Given the description of an element on the screen output the (x, y) to click on. 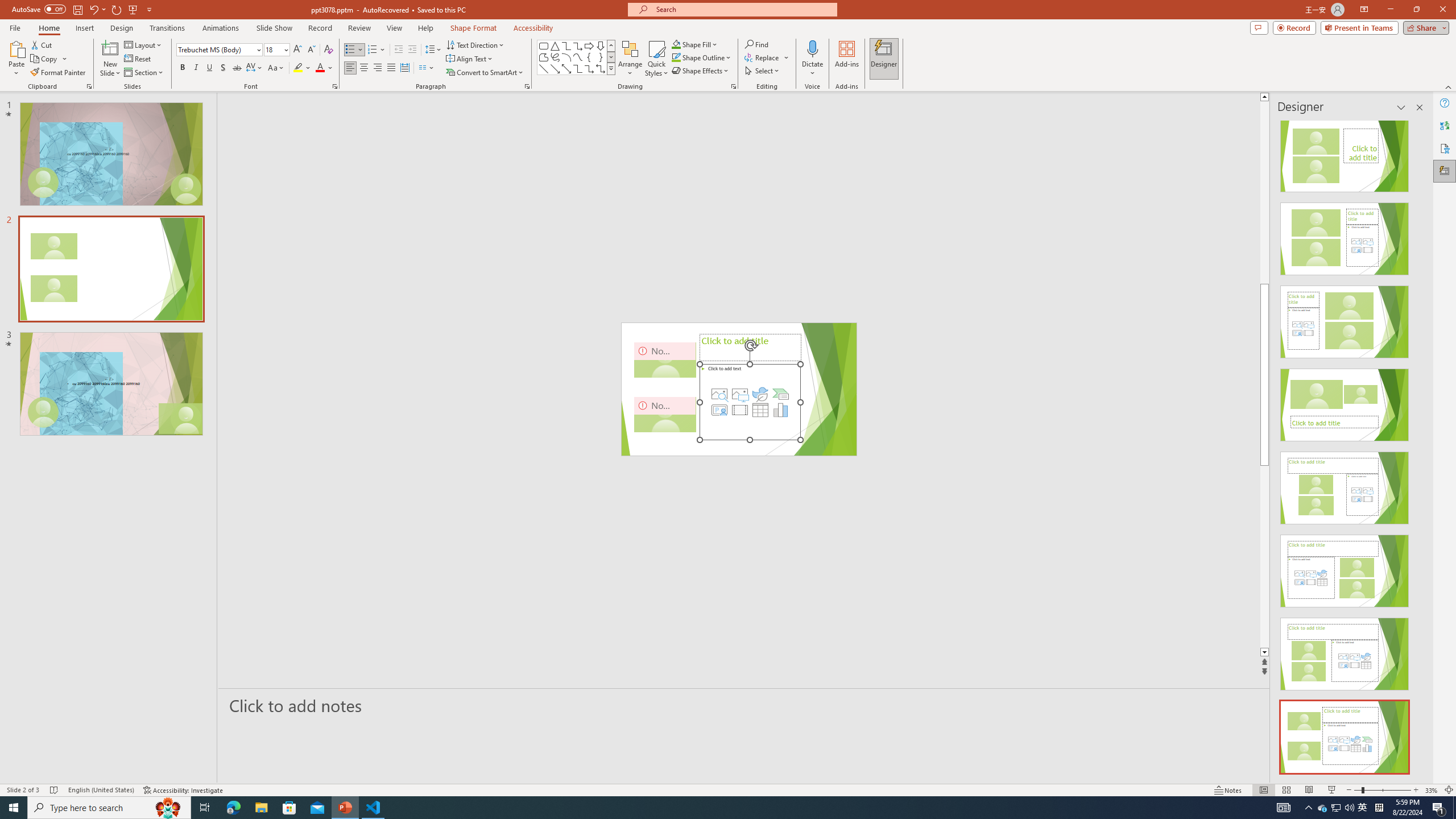
Camera 3, No camera detected. (685, 388)
